Given the description of an element on the screen output the (x, y) to click on. 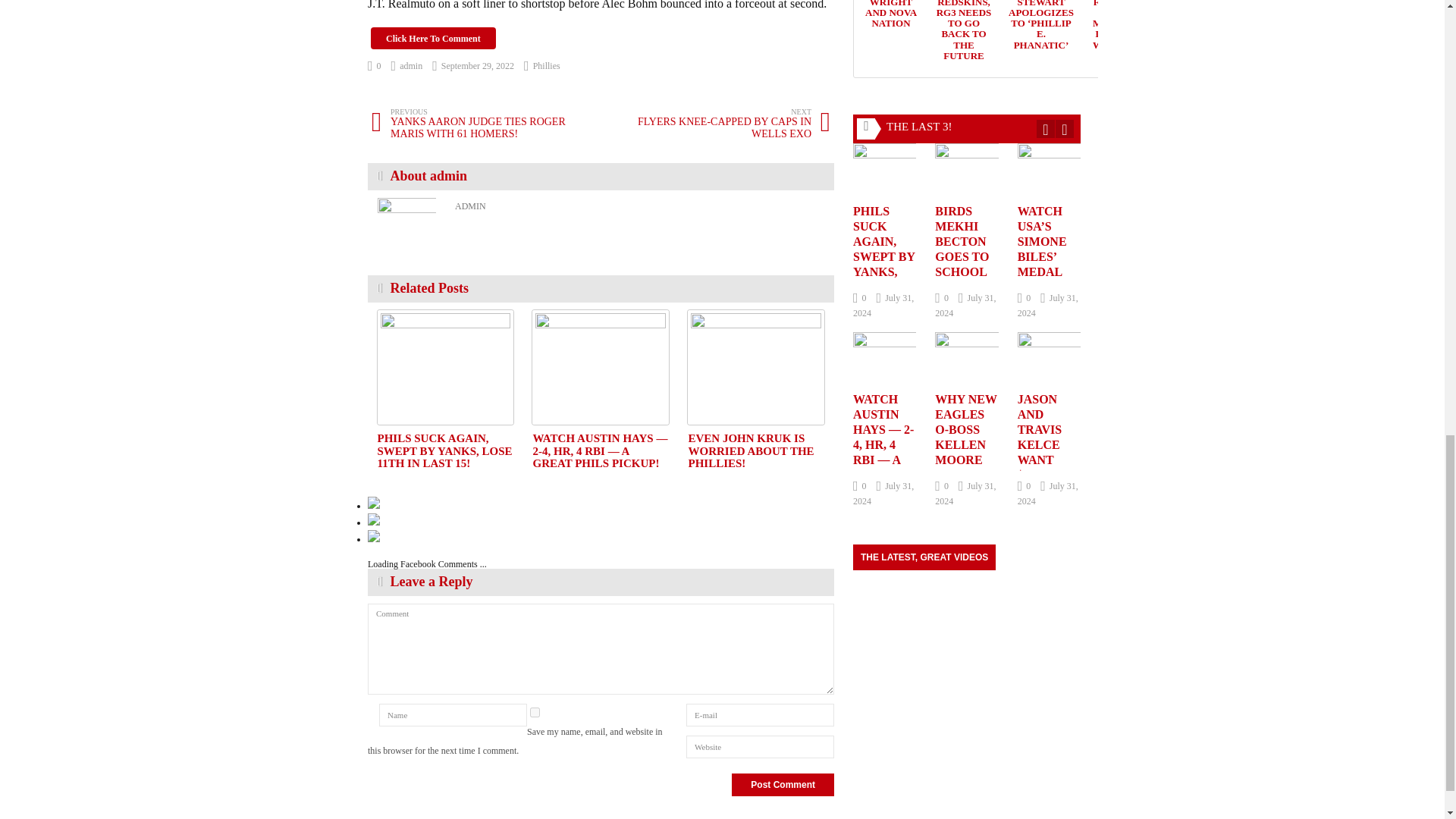
PHILS SUCK AGAIN, SWEPT BY YANKS, LOSE 11TH IN LAST 15! (444, 450)
admin (407, 65)
Website (759, 746)
Click Here To Comment (433, 38)
PHILS SUCK AGAIN, SWEPT BY YANKS, LOSE 11TH IN LAST 15! (716, 123)
0 (445, 367)
Phillies (374, 65)
EVEN JOHN KRUK IS WORRIED ABOUT THE PHILLIES! (546, 65)
E-mail (755, 367)
yes (759, 714)
Post Comment (534, 712)
Name (783, 784)
PHILS SUCK AGAIN, SWEPT BY YANKS, LOSE 11TH IN LAST 15! (452, 714)
September 29, 2022 (444, 450)
